Given the description of an element on the screen output the (x, y) to click on. 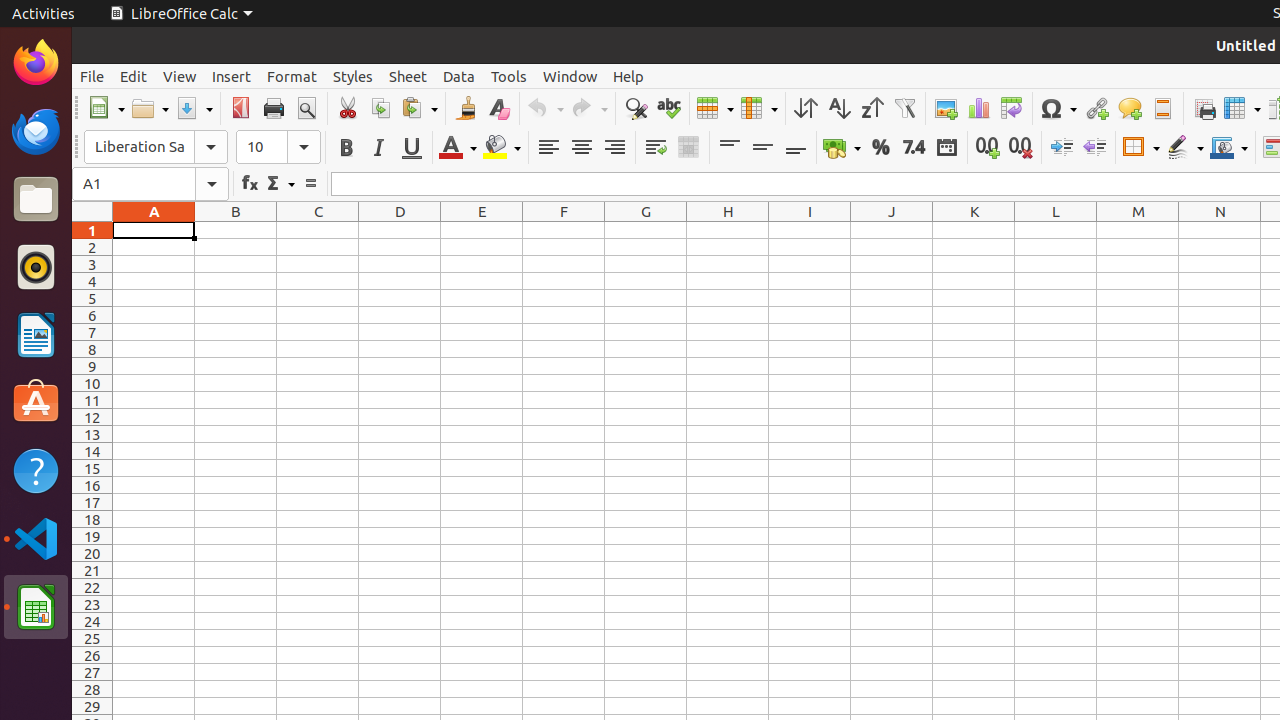
File Element type: menu (92, 76)
Font Color Element type: push-button (458, 147)
Data Element type: menu (459, 76)
Clear Element type: push-button (498, 108)
Format Element type: menu (292, 76)
